Given the description of an element on the screen output the (x, y) to click on. 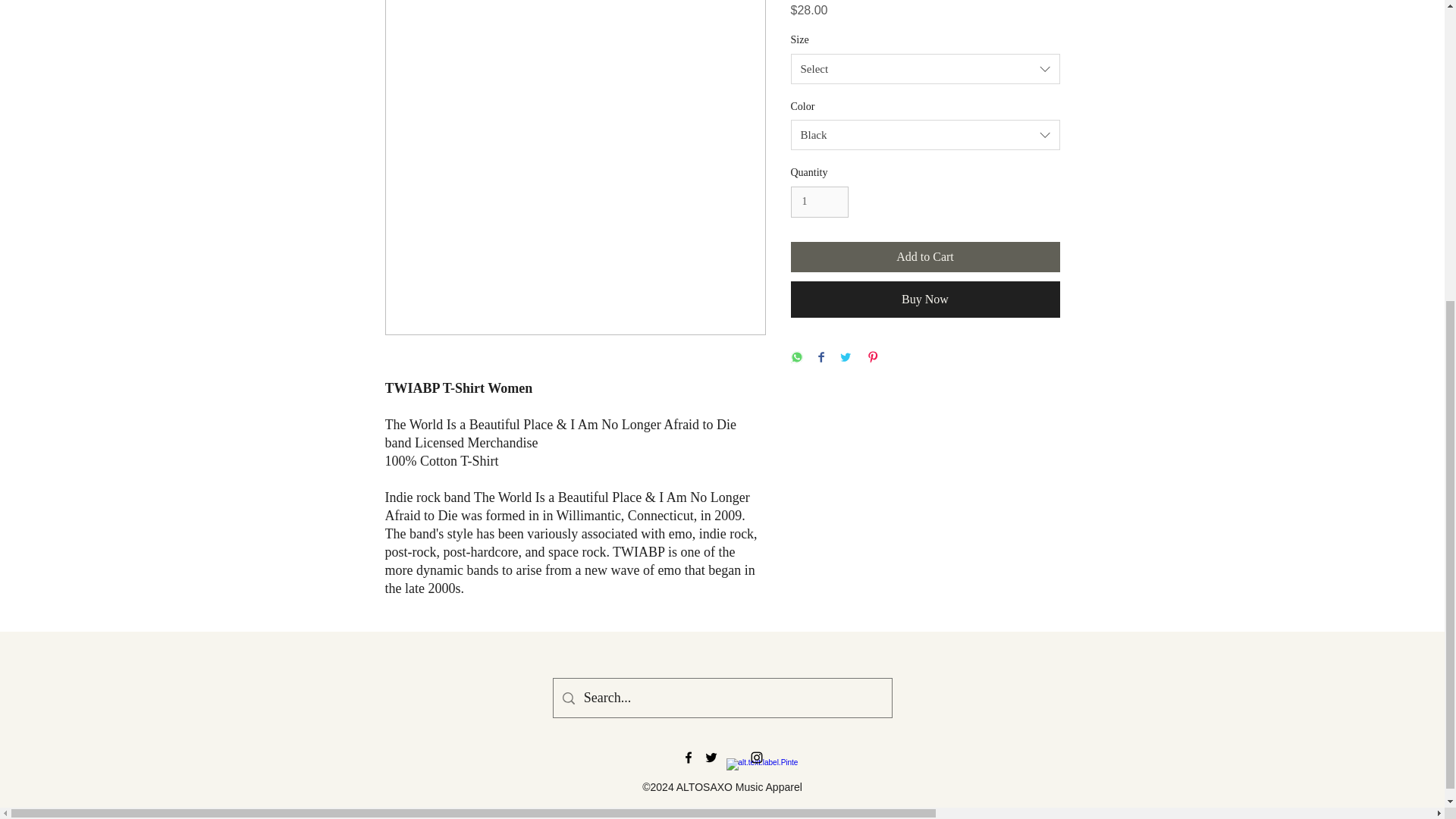
Add to Cart (924, 256)
Buy Now (924, 299)
Black (924, 134)
1 (818, 201)
Select (924, 69)
